Given the description of an element on the screen output the (x, y) to click on. 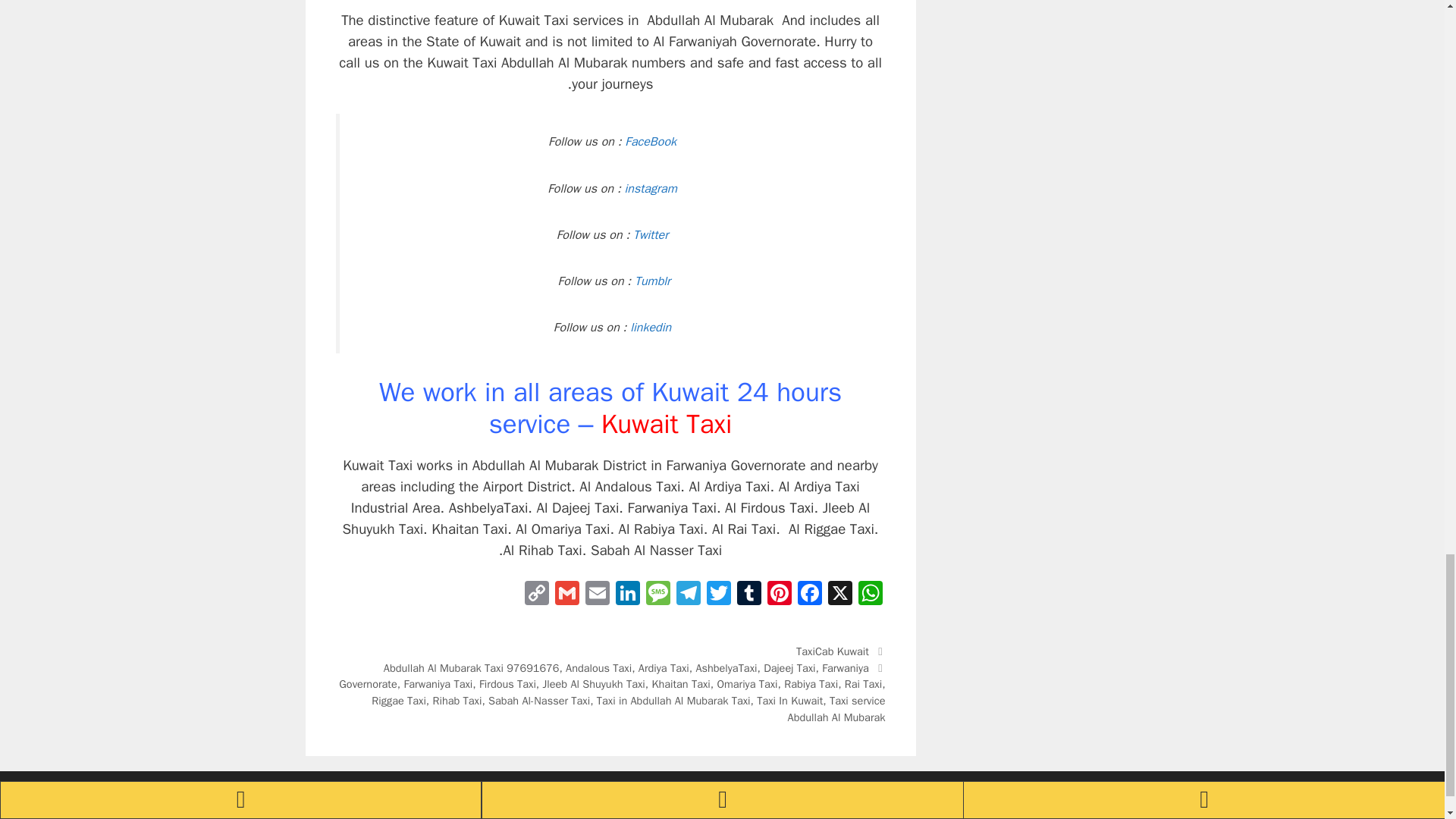
X (840, 594)
Telegram (687, 594)
Facebook (809, 594)
Tumblr (748, 594)
Email (597, 594)
Message (657, 594)
Copy Link (536, 594)
Facebook (809, 594)
Pinterest (779, 594)
LinkedIn (627, 594)
TaxiCab Kuwait (832, 651)
Email (597, 594)
Gmail (566, 594)
Twitter (650, 234)
AshbelyaTaxi (726, 667)
